Given the description of an element on the screen output the (x, y) to click on. 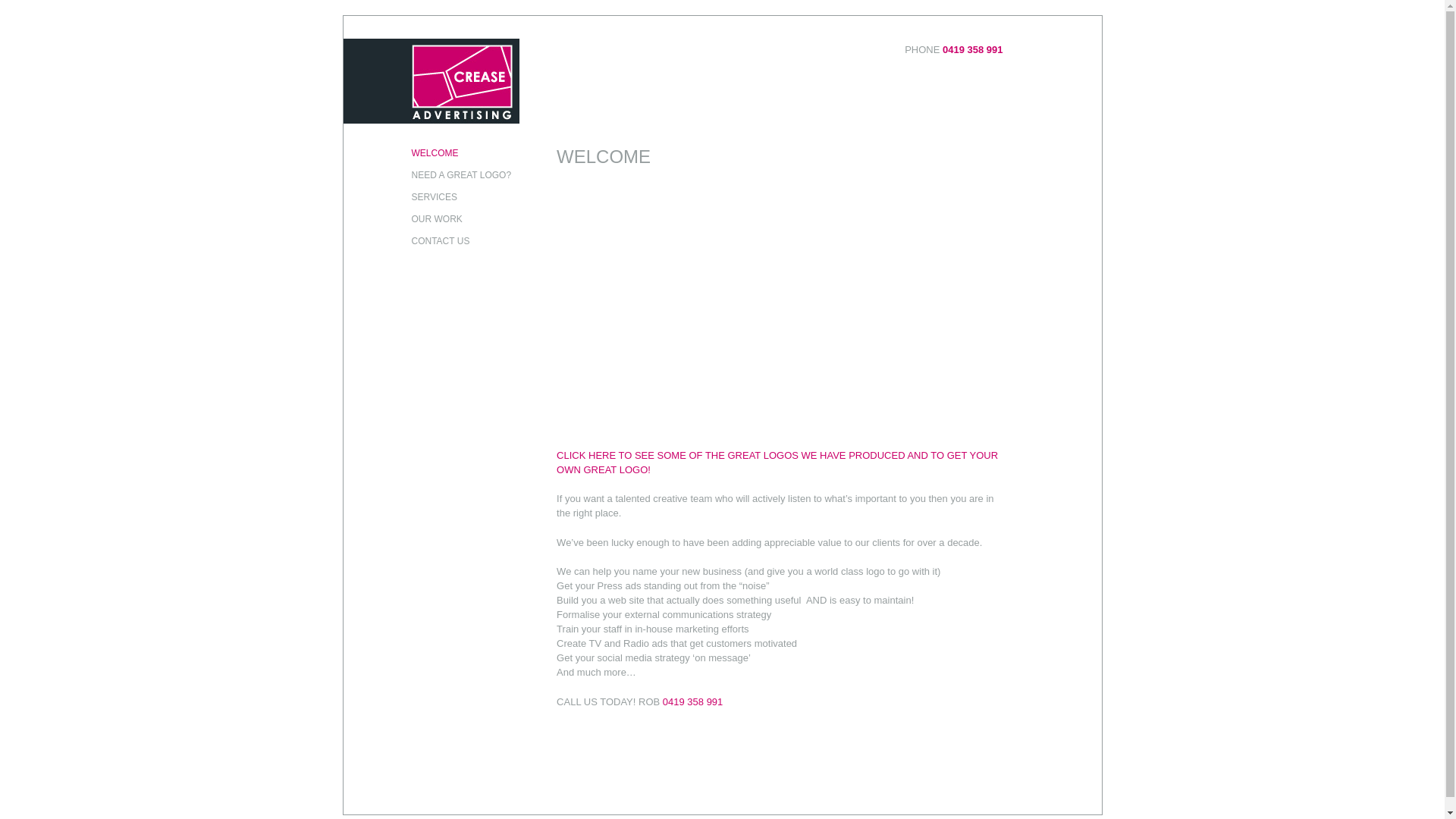
0419 358 991 Element type: text (692, 701)
0419 358 991 Element type: text (972, 49)
SERVICES Element type: text (461, 197)
CONTACT US Element type: text (461, 241)
WELCOME Element type: text (461, 153)
OUR WORK Element type: text (461, 219)
NEED A GREAT LOGO? Element type: text (461, 175)
